Given the description of an element on the screen output the (x, y) to click on. 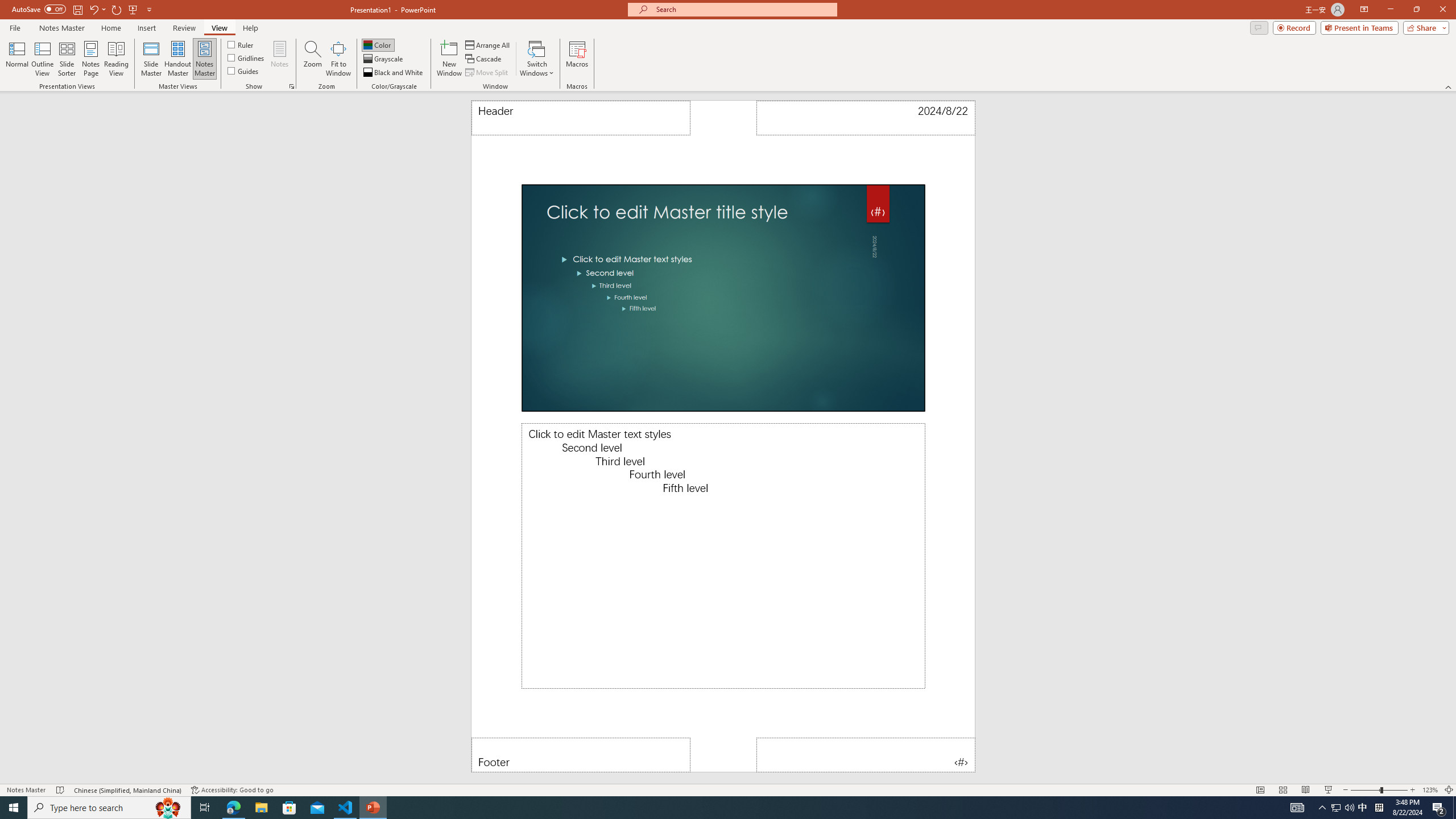
Grayscale (383, 58)
New Window (449, 58)
Color (377, 44)
Guides (243, 69)
Macros (576, 58)
Notes Master (61, 28)
